Given the description of an element on the screen output the (x, y) to click on. 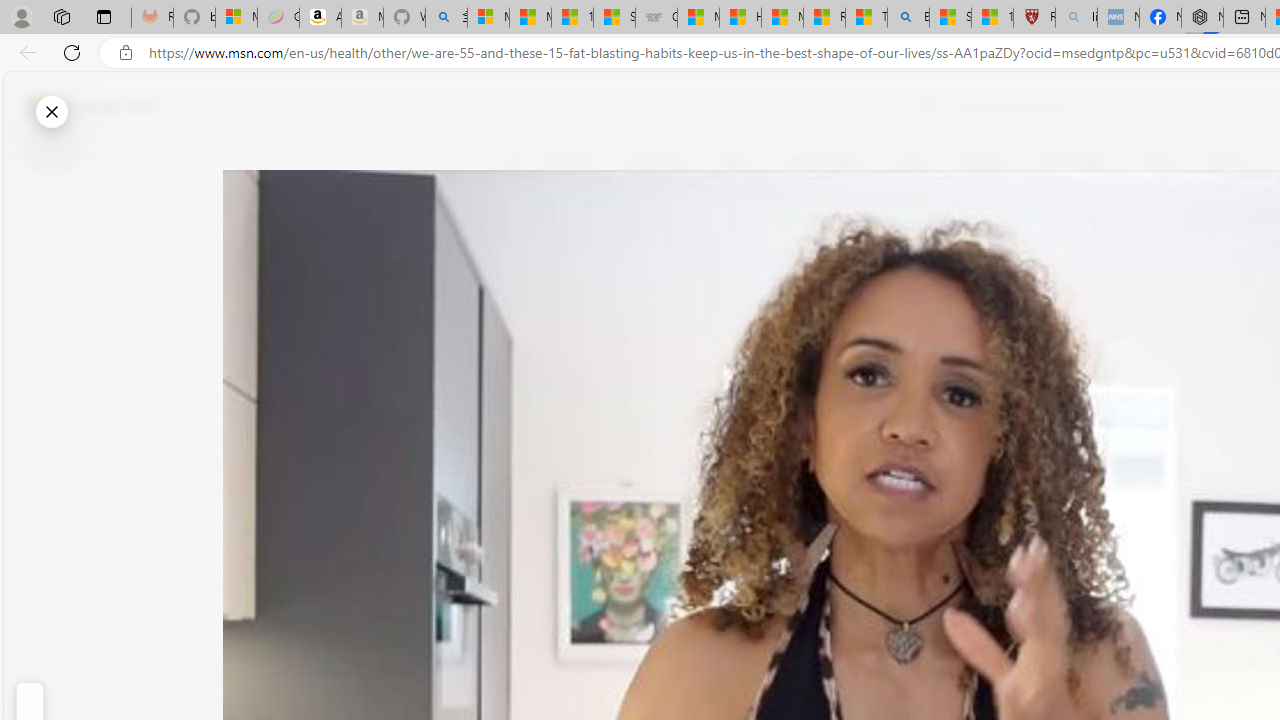
Body Network (788, 259)
Science (980, 162)
Open navigation menu (513, 162)
Web search (924, 105)
Recipes - MSN (823, 17)
